Given the description of an element on the screen output the (x, y) to click on. 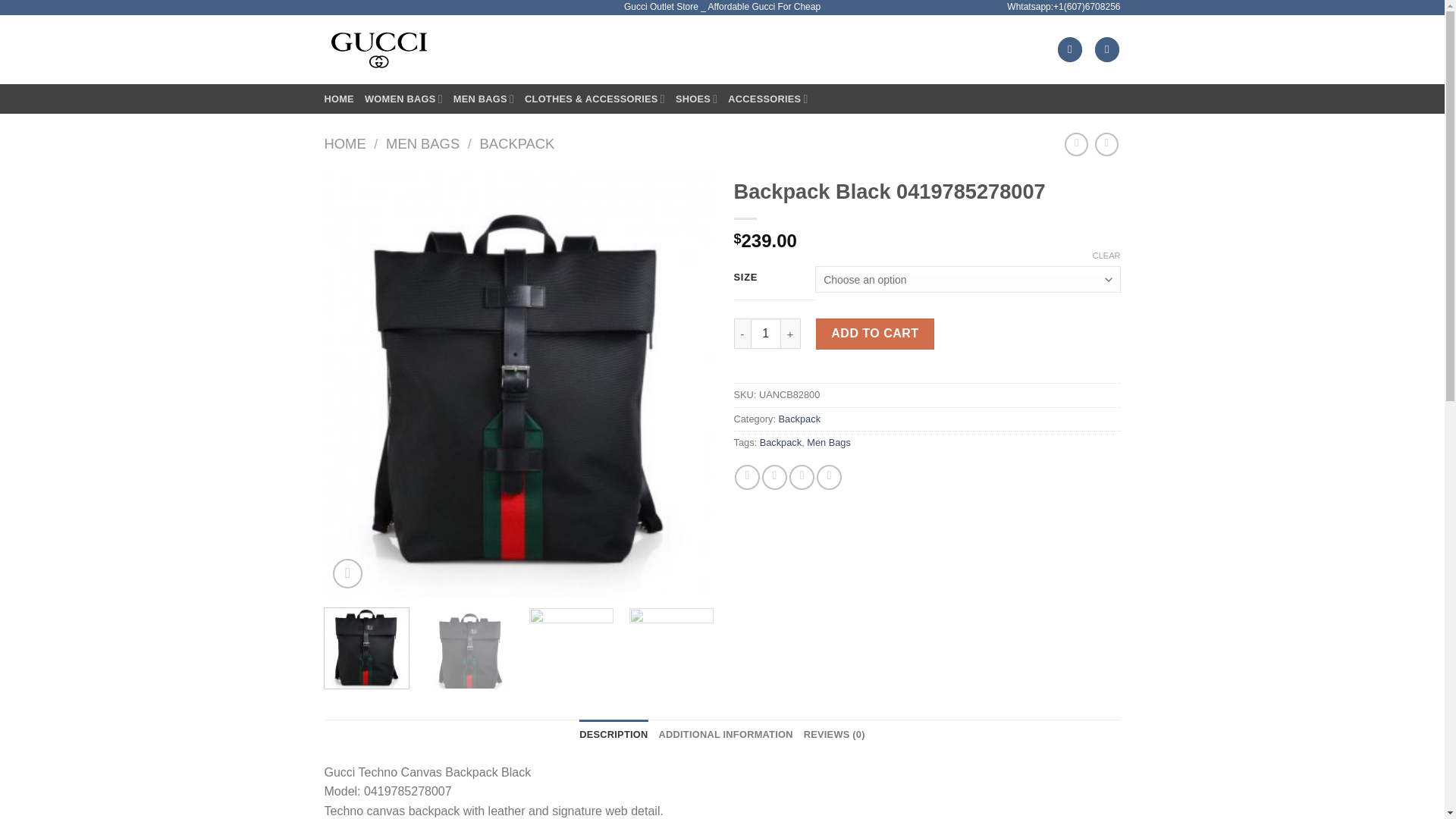
1 (765, 333)
Pin on Pinterest (828, 477)
WOMEN BAGS (403, 98)
Zoom (347, 573)
Search (1029, 49)
SHOES (696, 98)
Share on Twitter (774, 477)
Share on Facebook (747, 477)
Qty (765, 333)
Cart (1106, 49)
